Given the description of an element on the screen output the (x, y) to click on. 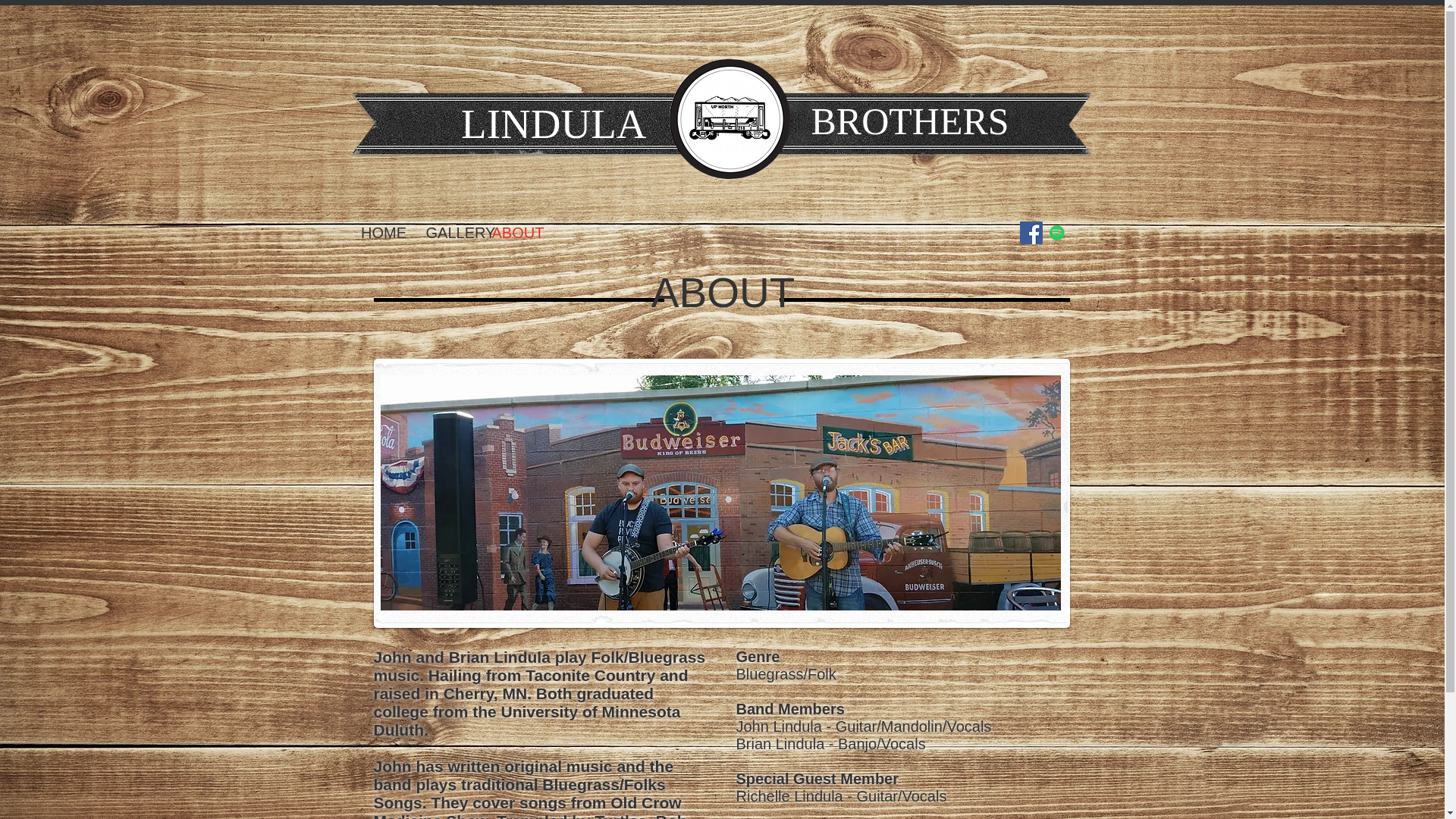
HOME (383, 232)
ABOUT (514, 232)
LINDULA (553, 123)
GALLERY (449, 232)
BROTHERS (909, 120)
